Given the description of an element on the screen output the (x, y) to click on. 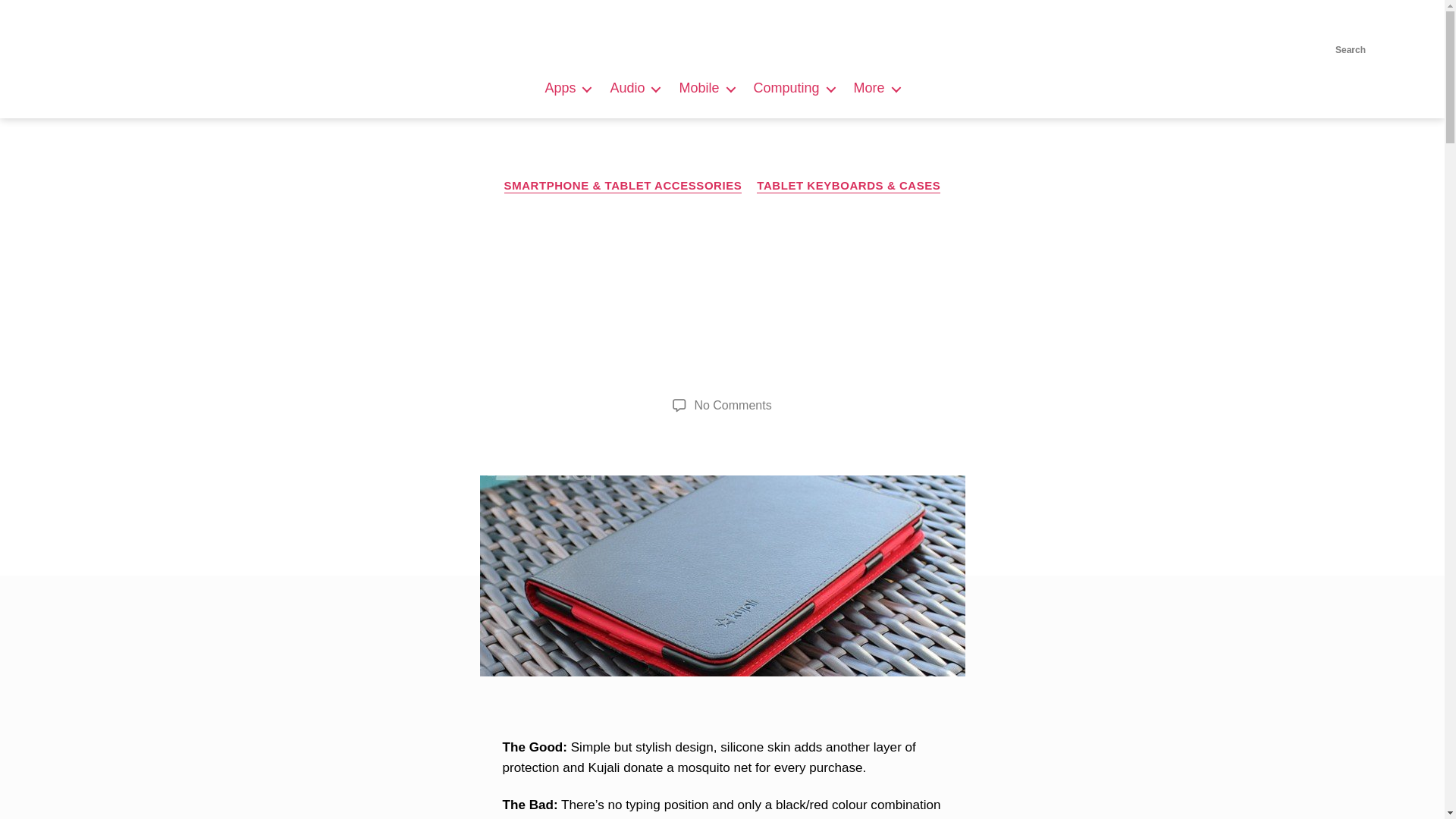
Search (1350, 29)
Computing (794, 88)
Audio (634, 88)
Apps (567, 88)
Mobile (705, 88)
More (876, 88)
